Given the description of an element on the screen output the (x, y) to click on. 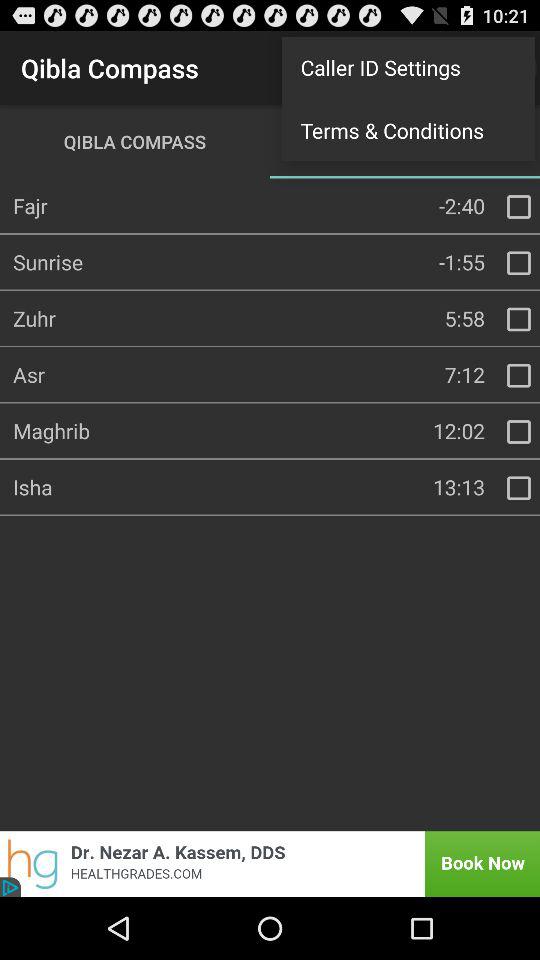
select check box (519, 488)
